Given the description of an element on the screen output the (x, y) to click on. 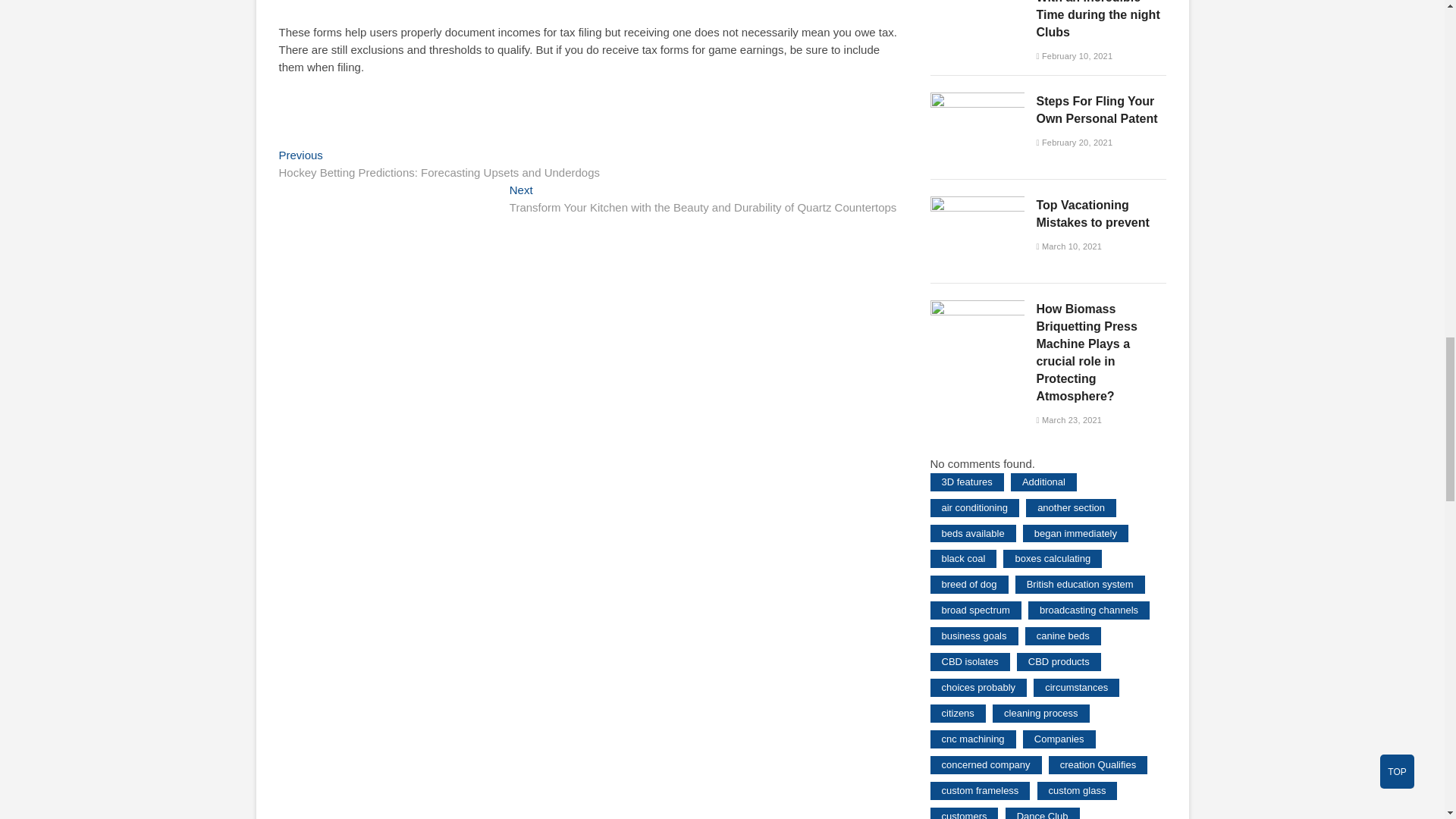
Steps For Fling Your Own Personal Patent (977, 100)
February 10, 2021 (1073, 55)
Top Vacationing Mistakes to prevent (977, 204)
March 10, 2021 (1068, 245)
February 20, 2021 (1073, 142)
